Given the description of an element on the screen output the (x, y) to click on. 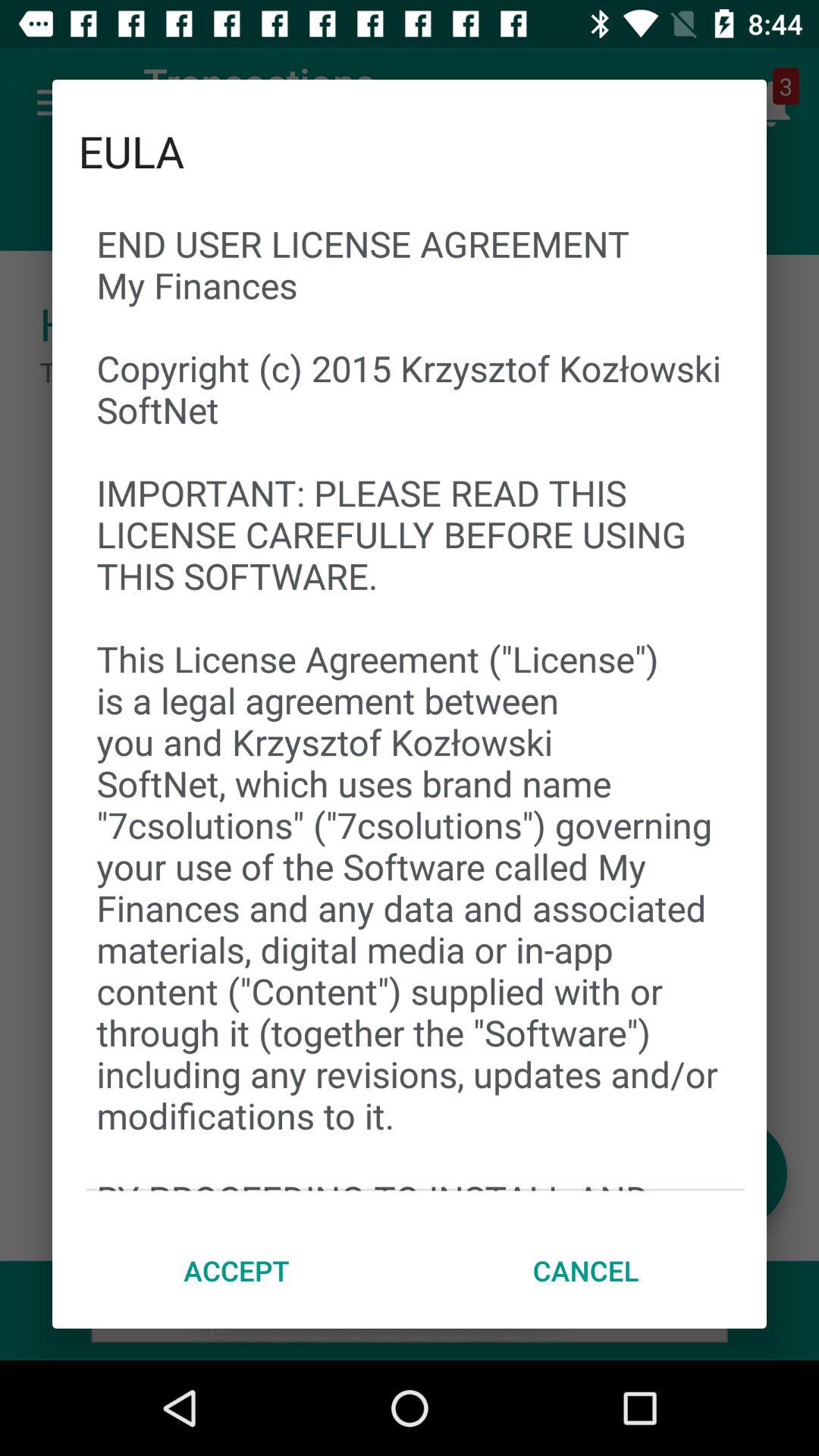
scroll to accept (236, 1270)
